Given the description of an element on the screen output the (x, y) to click on. 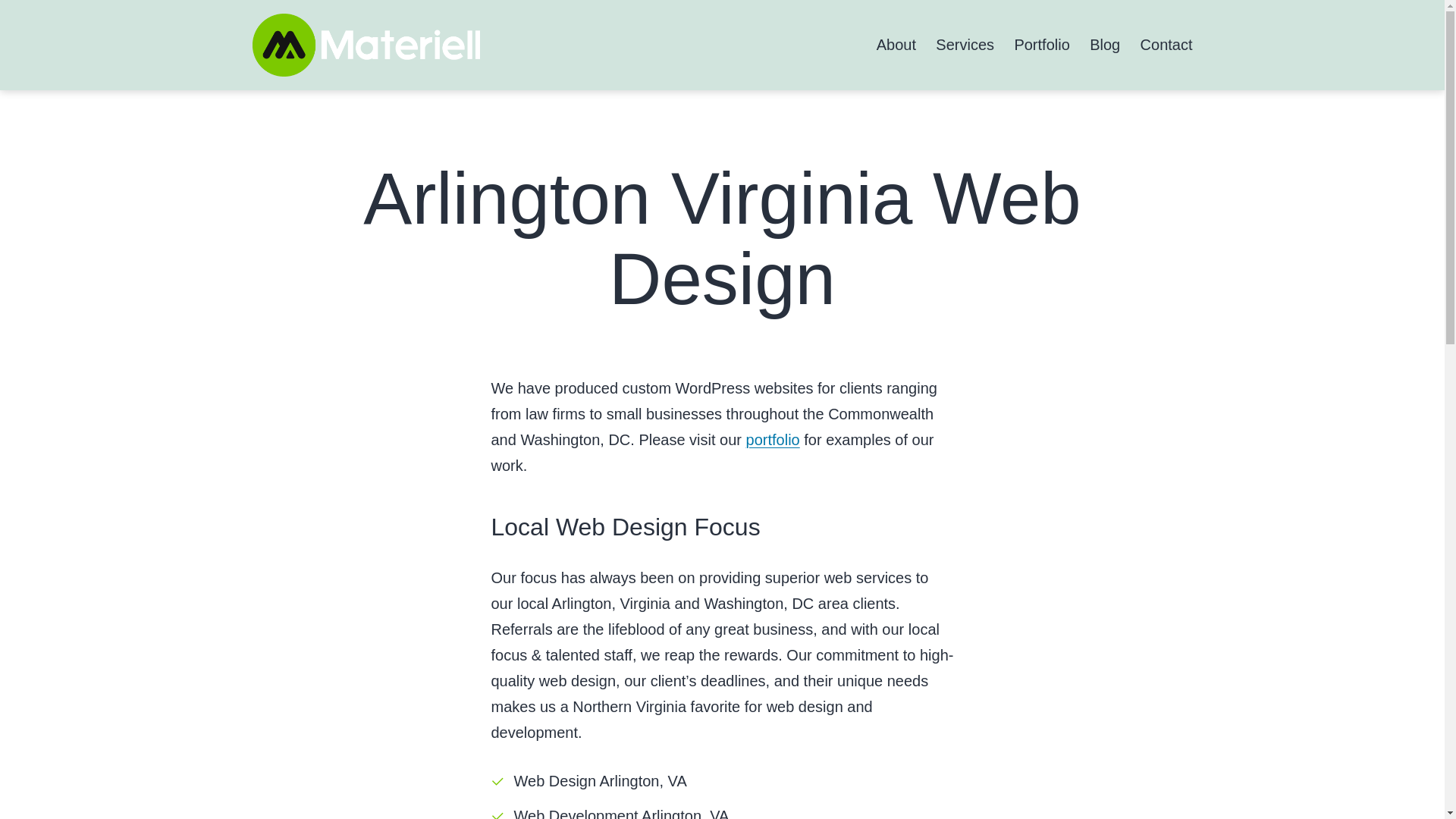
Services (965, 44)
Blog (1104, 44)
About (896, 44)
portfolio (772, 439)
Contact (1165, 44)
Portfolio (1042, 44)
